Given the description of an element on the screen output the (x, y) to click on. 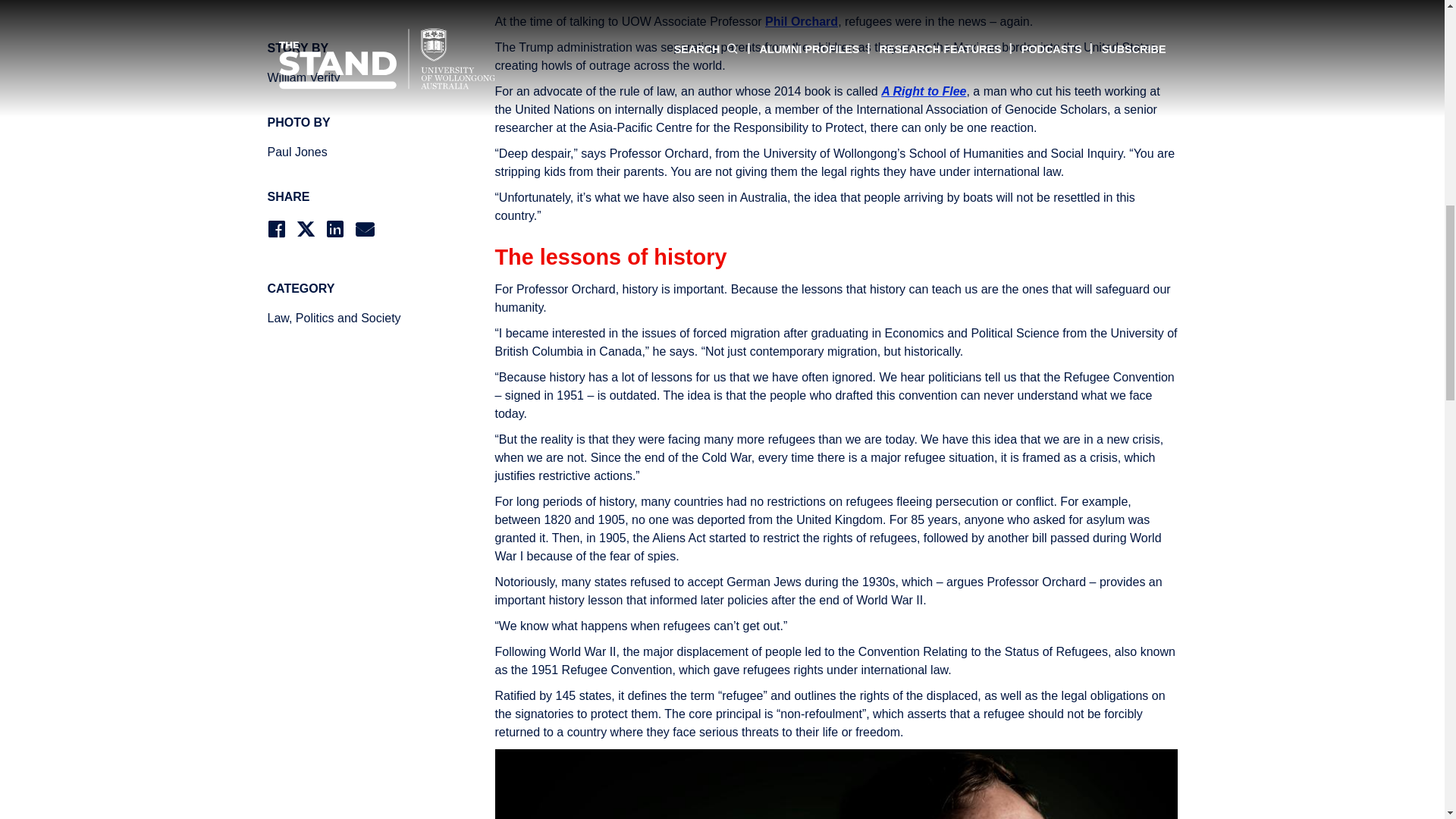
Law, Politics and Society (352, 318)
A Right to Flee (923, 91)
Phil Orchard (801, 21)
